Given the description of an element on the screen output the (x, y) to click on. 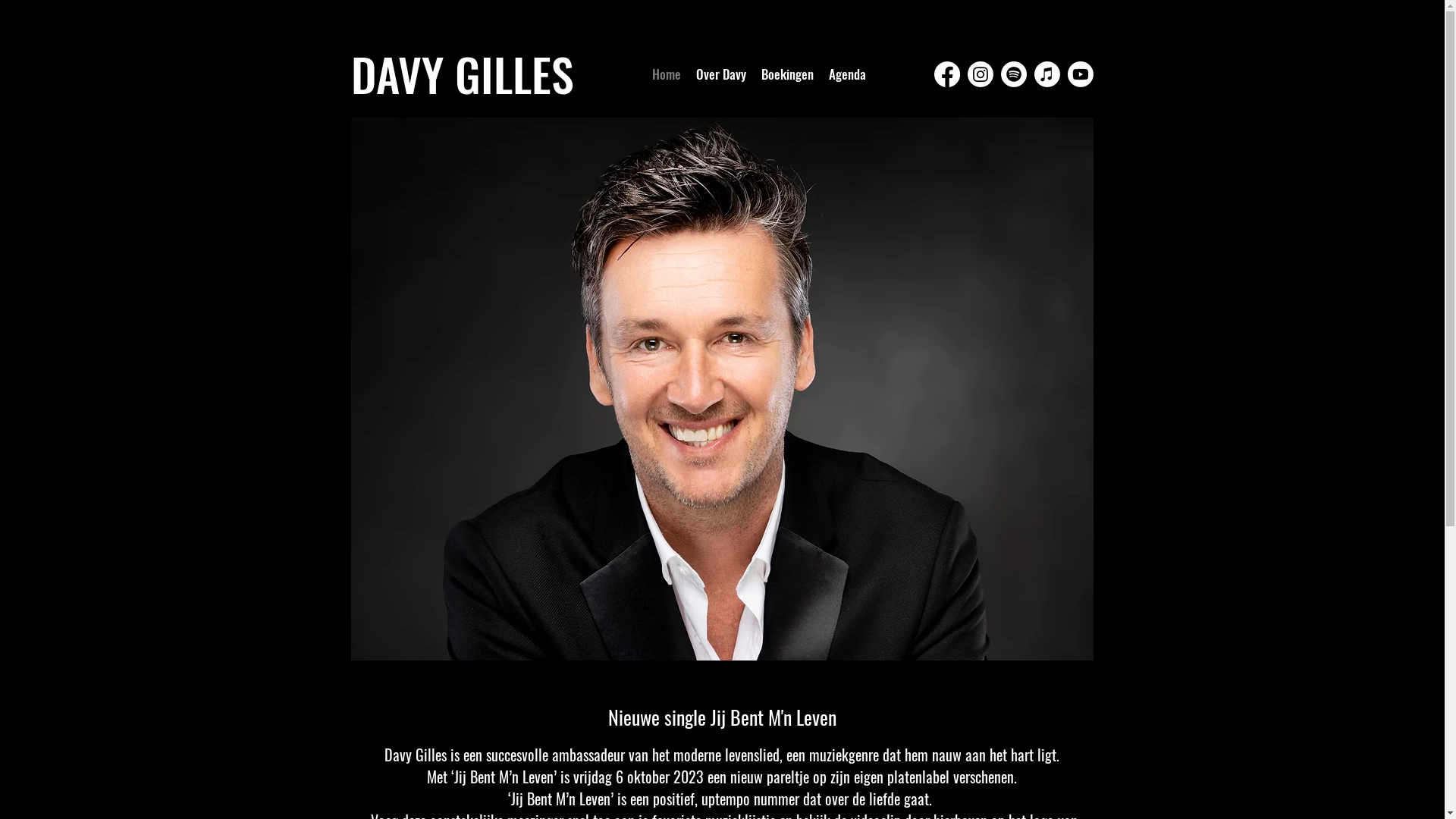
Home Element type: text (666, 73)
Boekingen Element type: text (787, 73)
Over Davy Element type: text (720, 73)
Agenda Element type: text (846, 73)
